Given the description of an element on the screen output the (x, y) to click on. 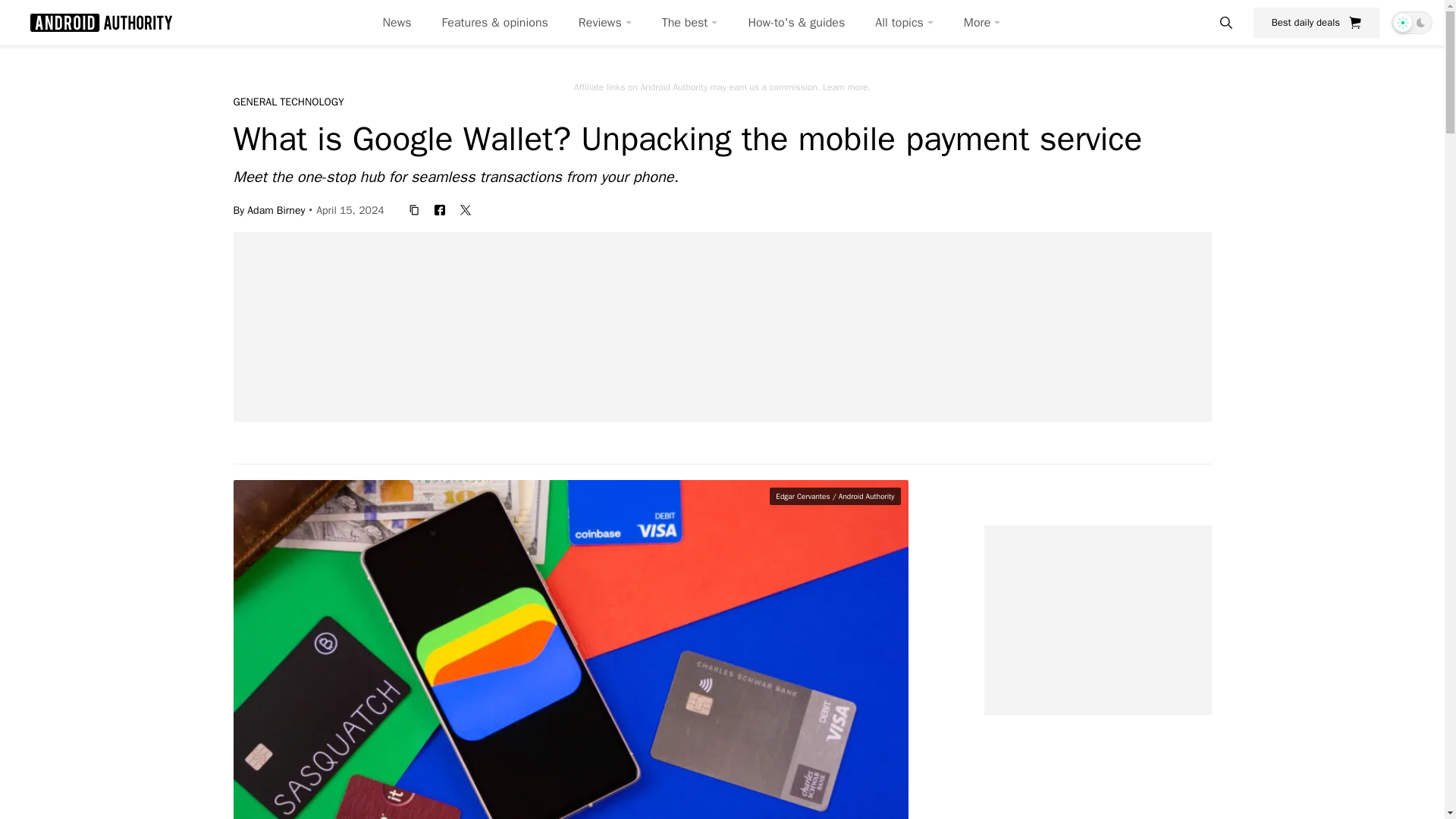
facebook (439, 209)
Best daily deals (1315, 22)
All topics (904, 22)
More (981, 22)
Reviews (604, 22)
GENERAL TECHNOLOGY (287, 101)
Adam Birney (275, 209)
The best (689, 22)
Learn more. (846, 86)
twitter (465, 209)
News (397, 22)
